Given the description of an element on the screen output the (x, y) to click on. 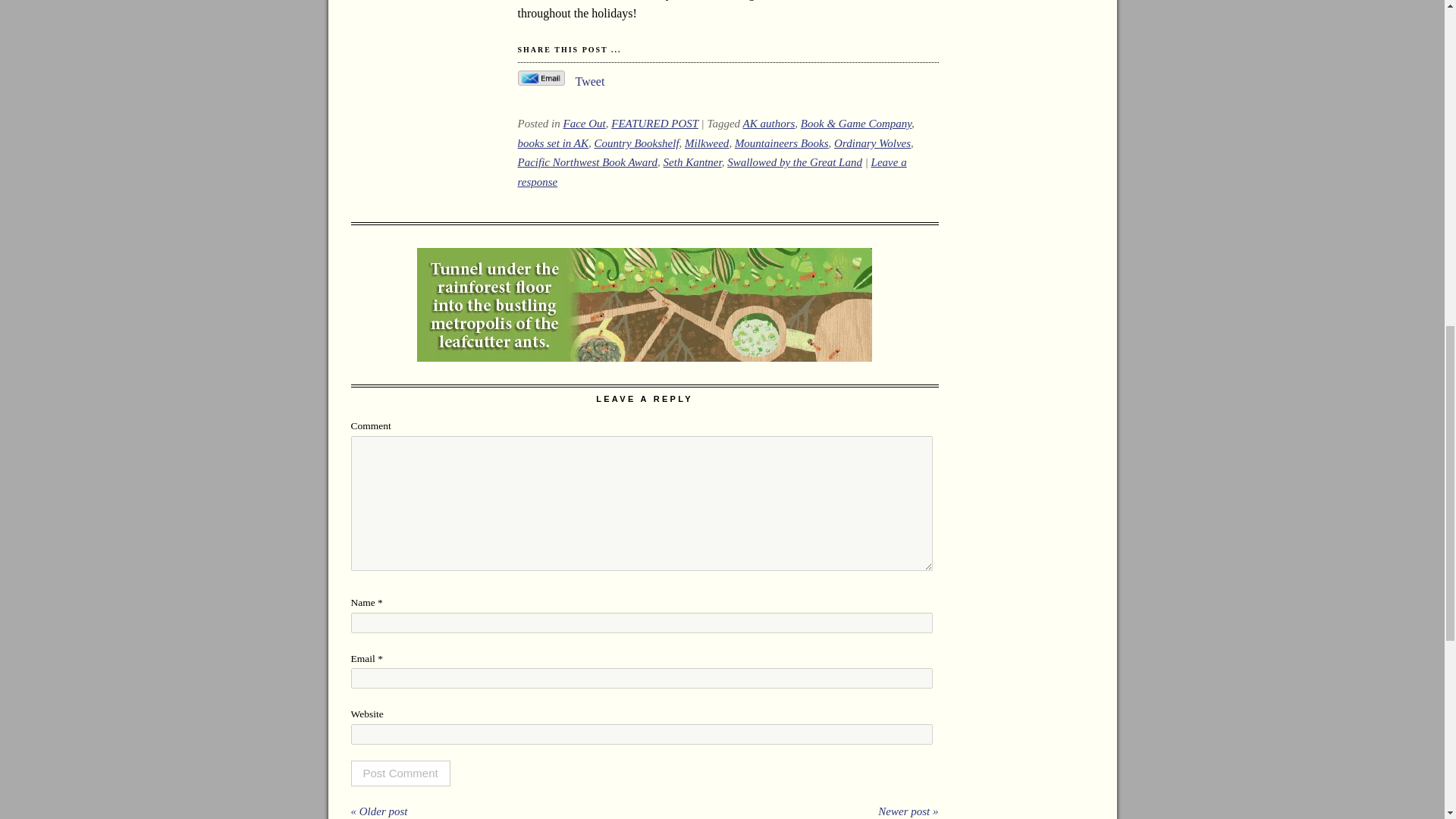
Post Comment (399, 773)
Face Out (583, 123)
Swallowed by the Great Land (793, 162)
Leave a response (710, 172)
Ordinary Wolves (872, 143)
Country Bookshelf (636, 143)
FEATURED POST (654, 123)
Milkweed (706, 143)
Seth Kantner (692, 162)
